Given the description of an element on the screen output the (x, y) to click on. 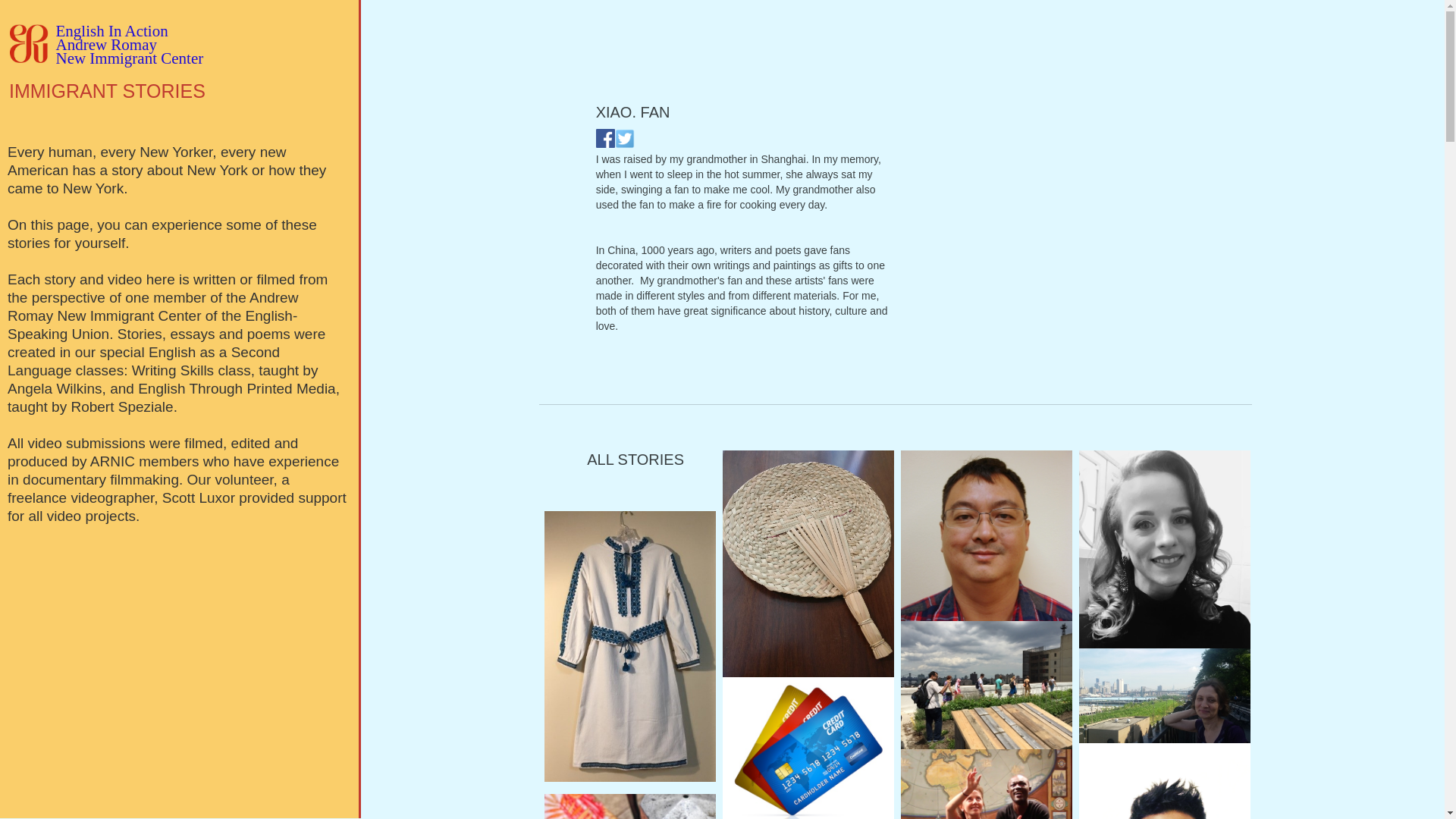
IMMIGRANT STORIES (129, 44)
